Given the description of an element on the screen output the (x, y) to click on. 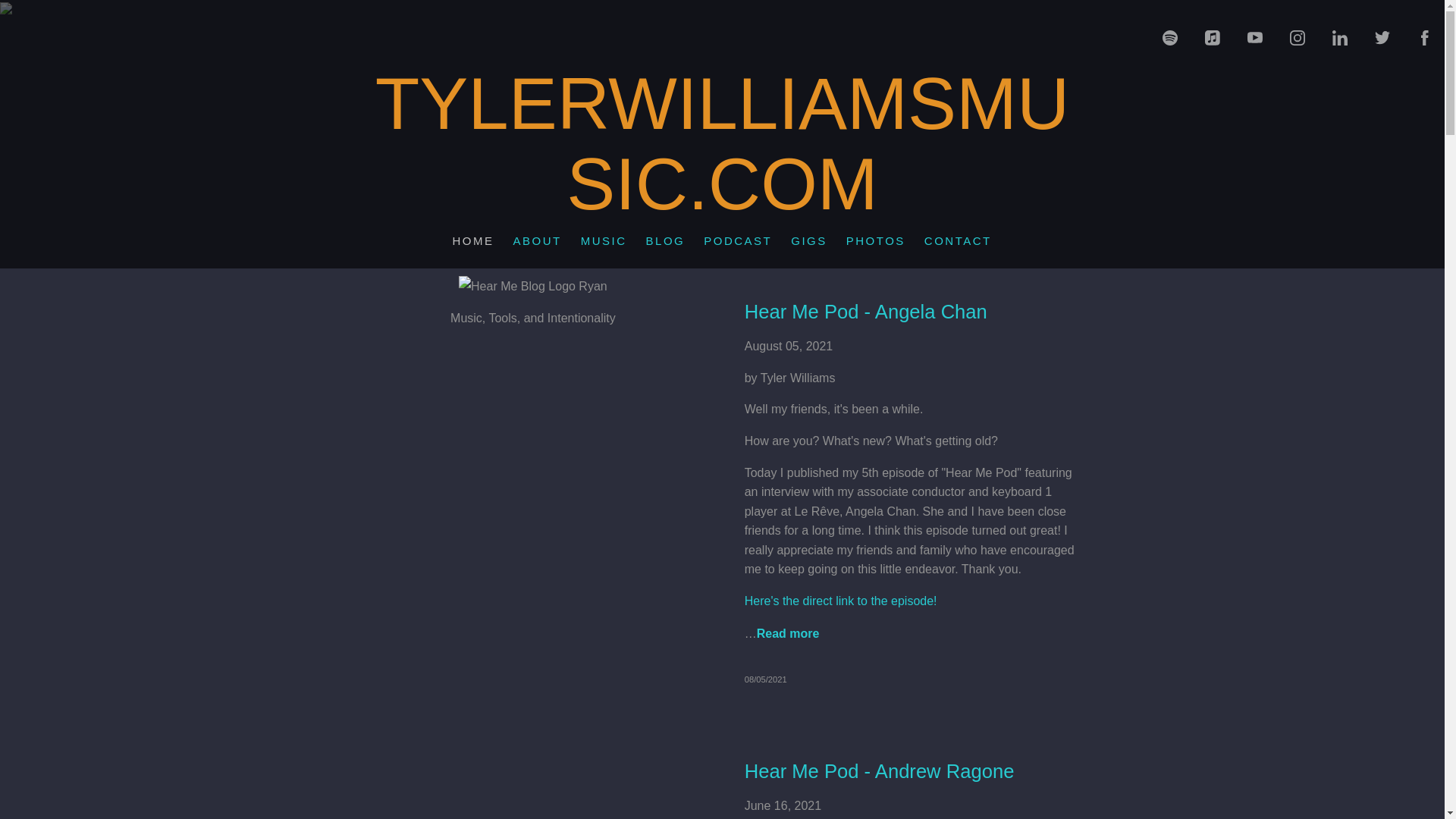
ABOUT (536, 240)
GIGS (809, 240)
Hear Me Pod - Andrew Ragone (879, 771)
Read more (788, 633)
PHOTOS (876, 240)
MUSIC (604, 240)
BLOG (665, 240)
TYLERWILLIAMSMUSIC.COM (721, 201)
August 05, 2021 10:58 (765, 678)
Hear Me Pod - Angela Chan (865, 311)
Here's the direct link to the episode! (840, 600)
PODCAST (737, 240)
CONTACT (957, 240)
HOME (472, 240)
